Given the description of an element on the screen output the (x, y) to click on. 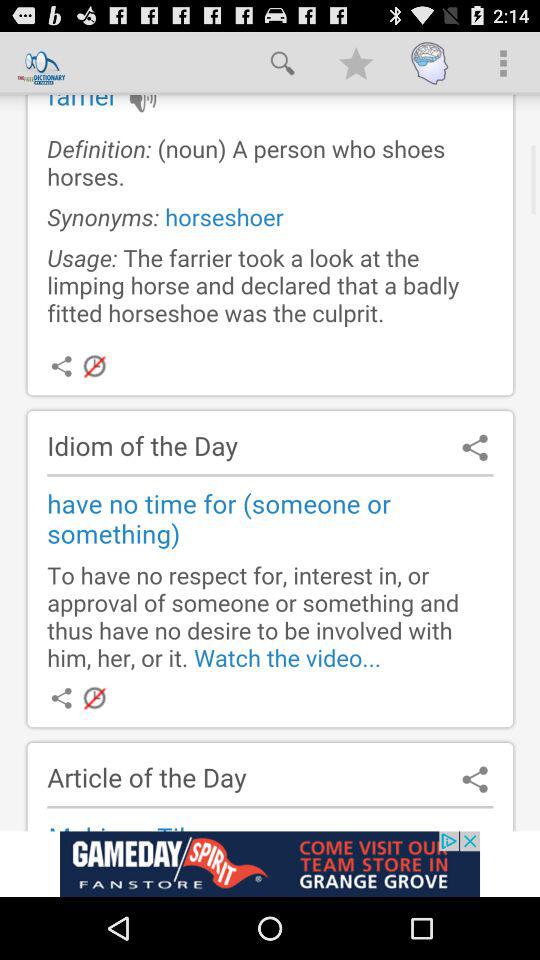
open advertisement (270, 864)
